Given the description of an element on the screen output the (x, y) to click on. 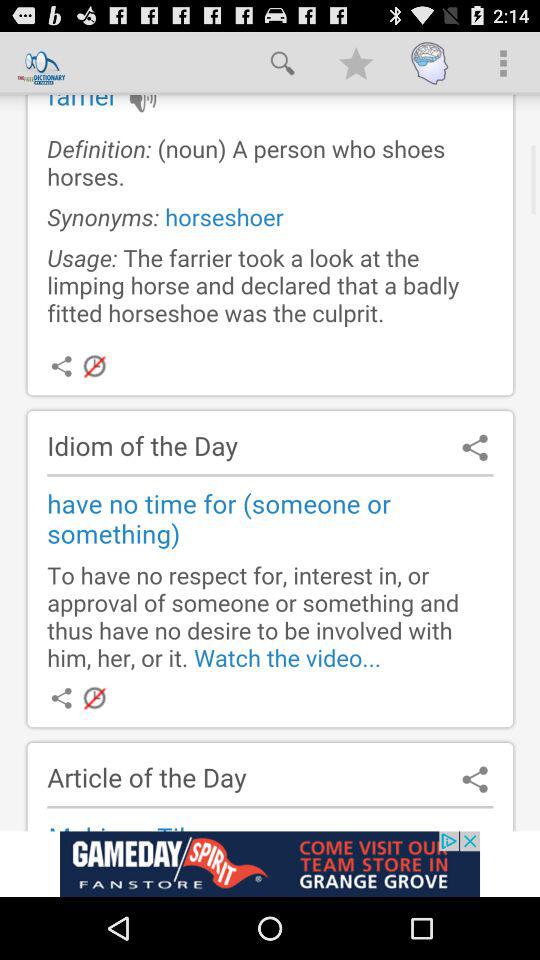
open advertisement (270, 864)
